Given the description of an element on the screen output the (x, y) to click on. 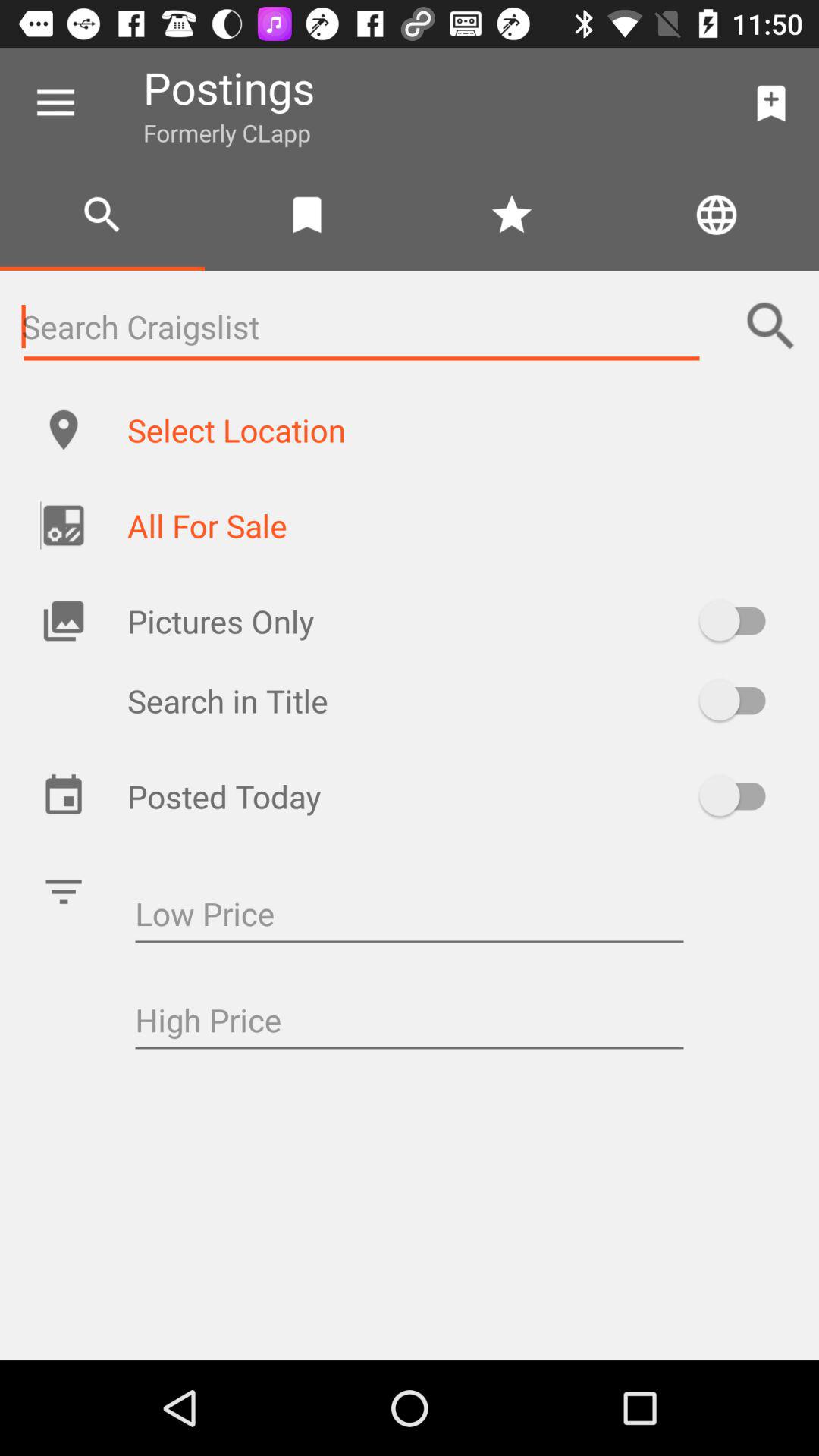
enter low price (409, 915)
